Given the description of an element on the screen output the (x, y) to click on. 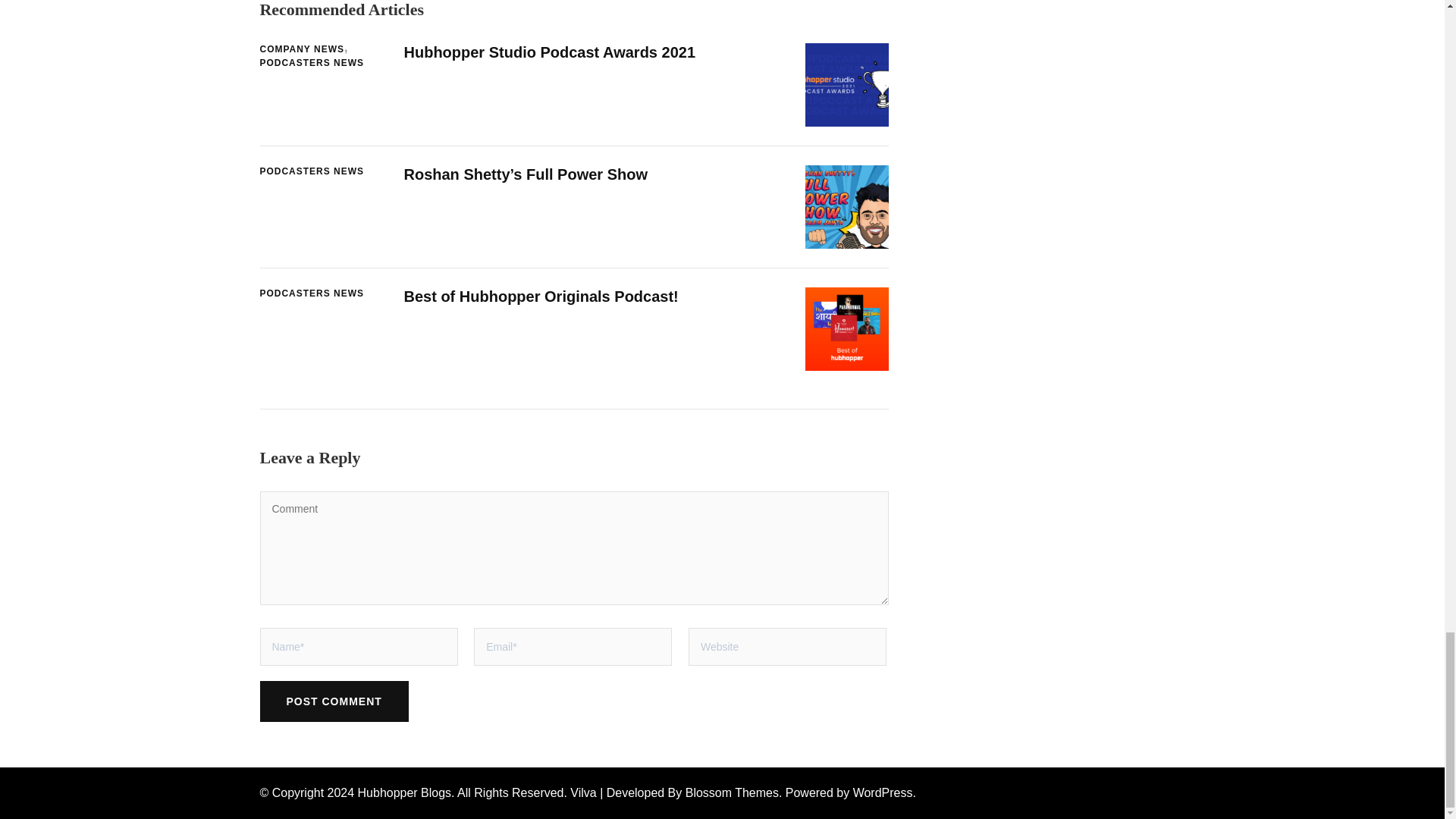
Post Comment (333, 700)
PODCASTERS NEWS (311, 63)
COMPANY NEWS (305, 49)
